Given the description of an element on the screen output the (x, y) to click on. 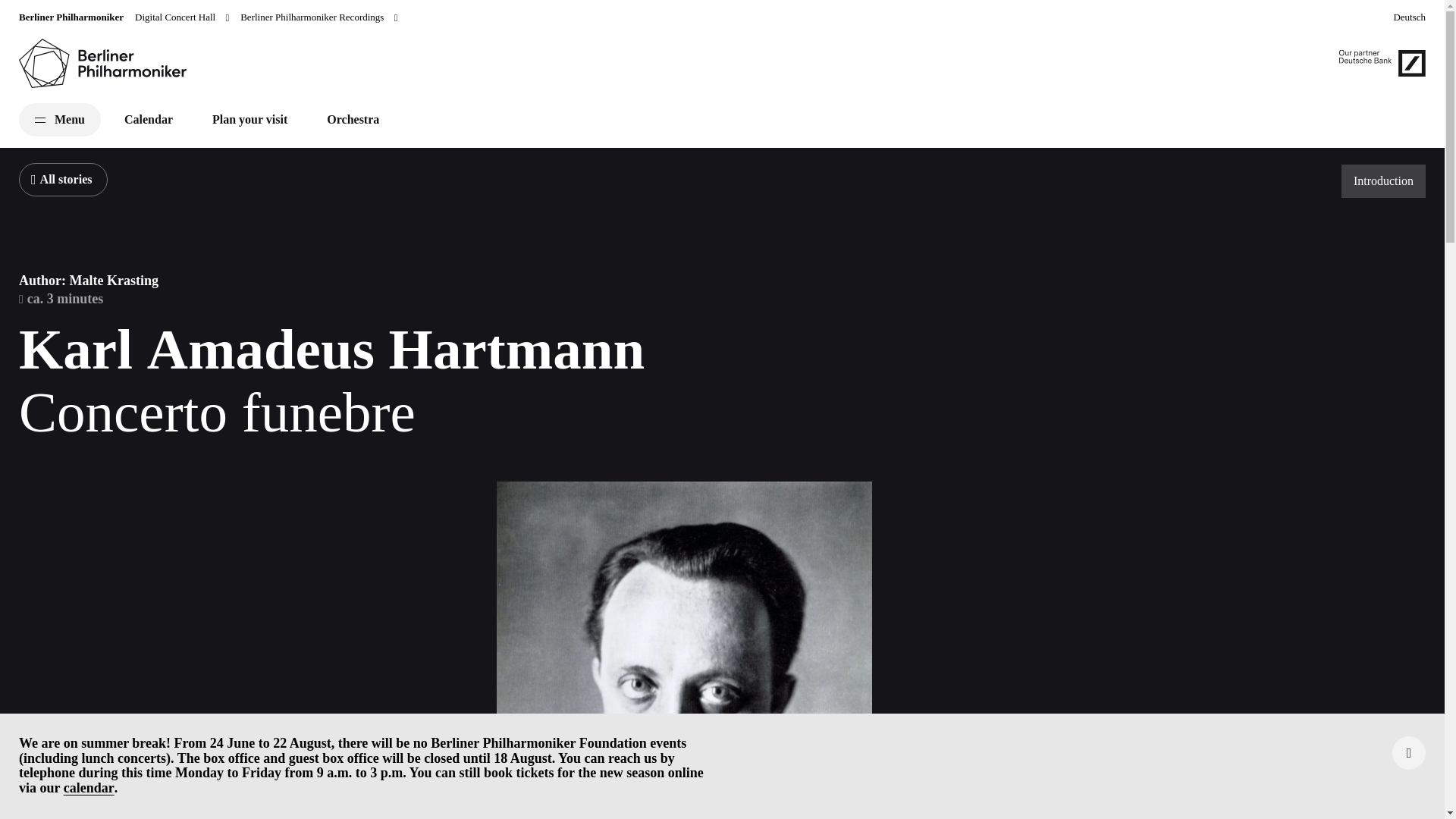
Deutsch (1409, 17)
Our partner Deutsche Bank (1382, 62)
Berliner Philharmoniker (102, 62)
Berliner Philharmoniker (70, 17)
Berliner Philharmoniker (70, 17)
Calendar (148, 119)
Berliner Philharmoniker Recordings (318, 16)
Digital Concert Hall (181, 16)
Berliner Philharmoniker Recordings (318, 16)
Orchestra (352, 119)
calendar (89, 788)
Menu (59, 119)
Deutsch (1409, 17)
Digital Concert Hall (181, 16)
Plan your visit (249, 119)
